Given the description of an element on the screen output the (x, y) to click on. 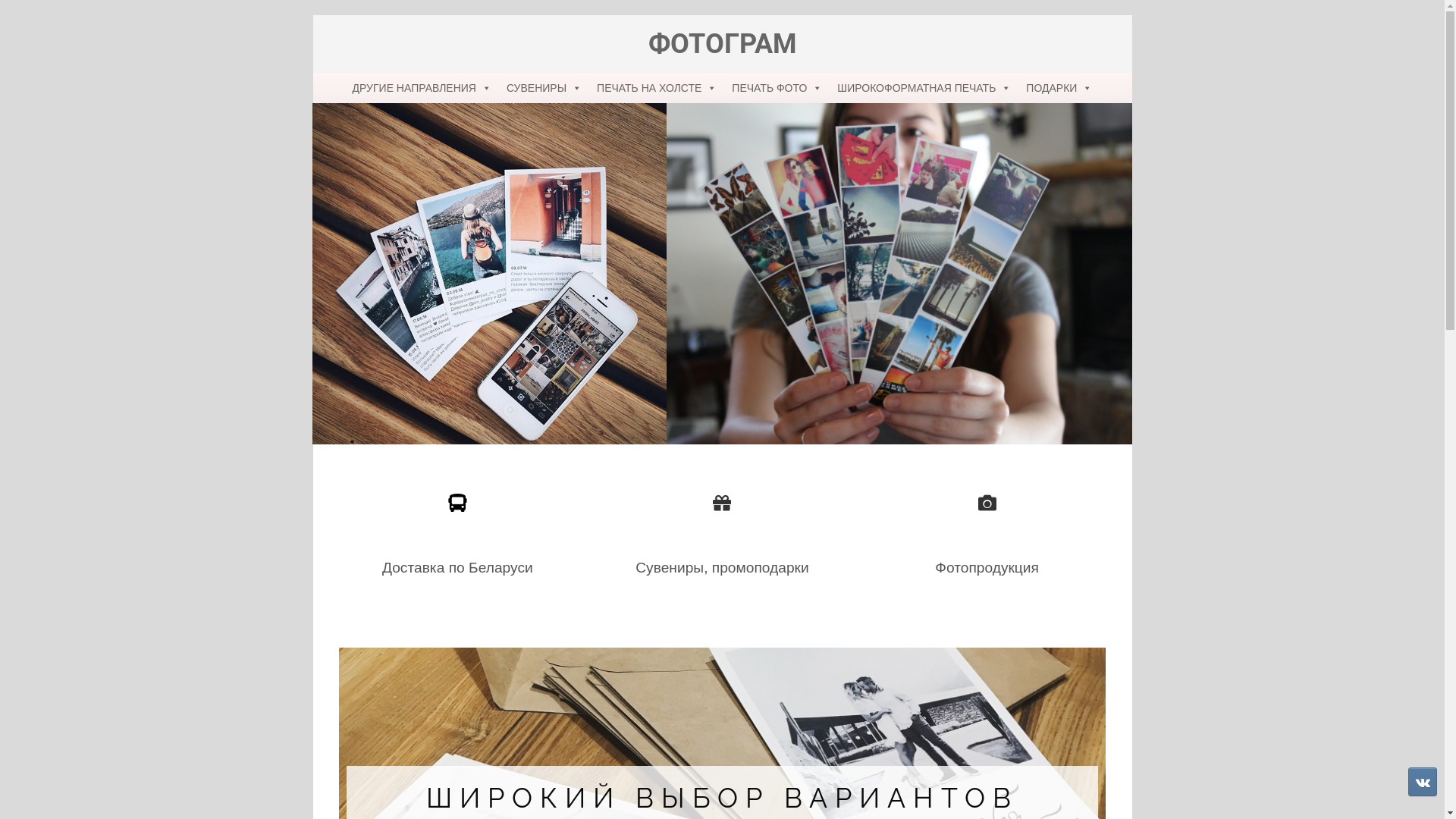
Skip to content Element type: text (312, 14)
